Given the description of an element on the screen output the (x, y) to click on. 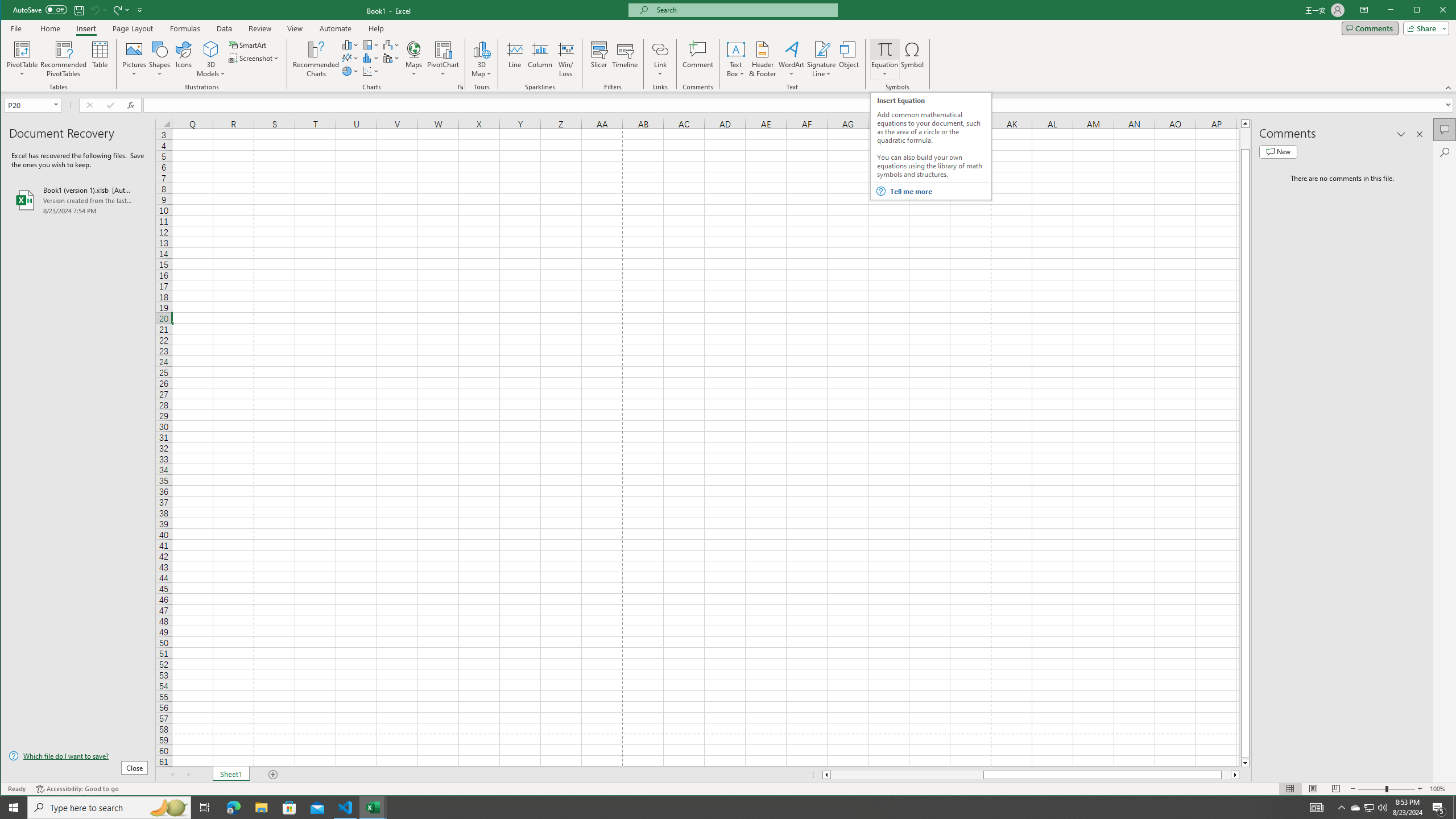
Start (13, 807)
Equation (1355, 807)
Class: MsoCommandBar (884, 48)
Draw Horizontal Text Box (728, 45)
Recommended Charts (735, 48)
Insert Hierarchy Chart (460, 86)
WordArt (371, 44)
Tell me more (791, 59)
